Given the description of an element on the screen output the (x, y) to click on. 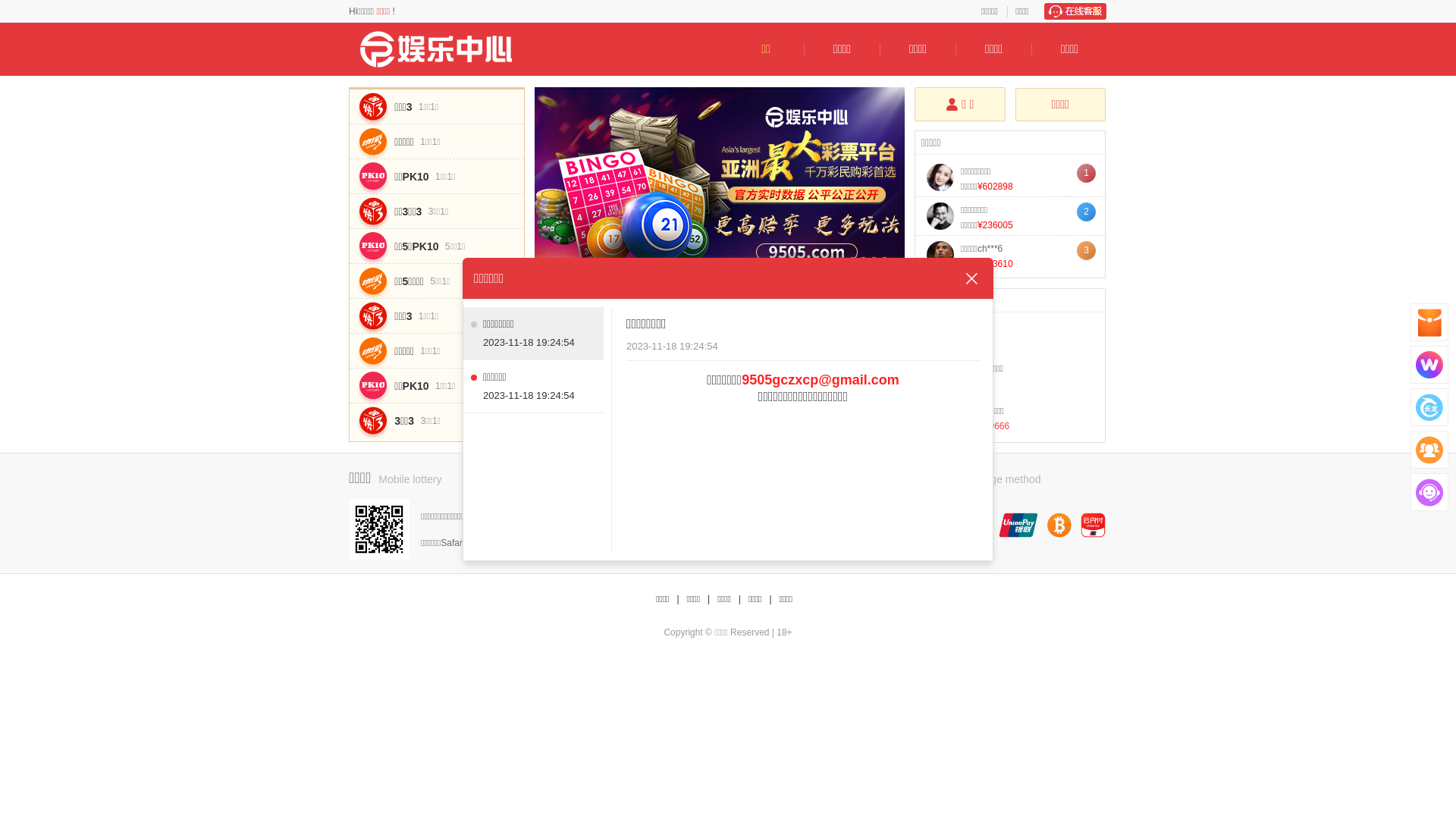
| Element type: text (739, 599)
| Element type: text (708, 599)
| Element type: text (769, 599)
| Element type: text (677, 599)
